Given the description of an element on the screen output the (x, y) to click on. 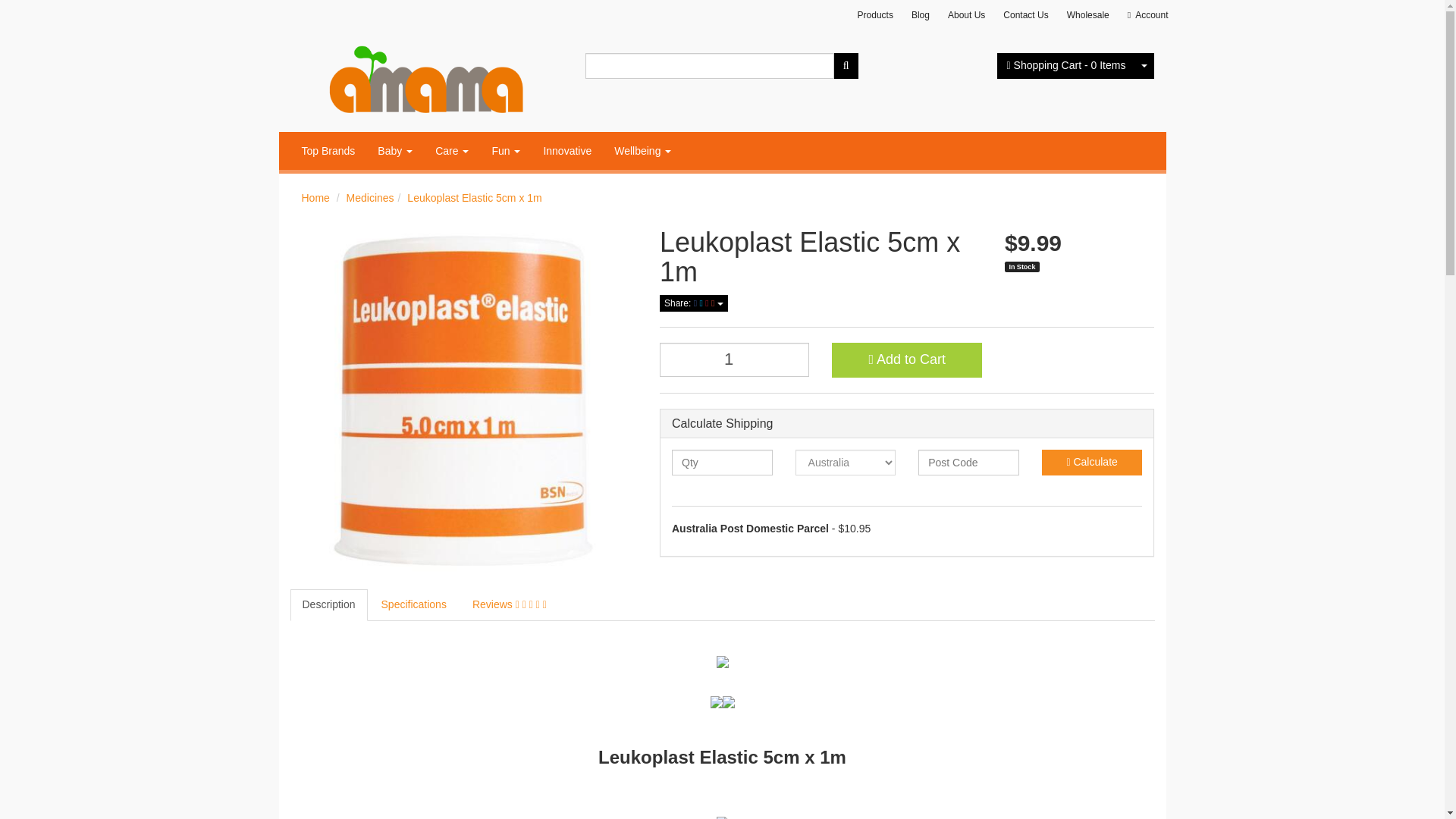
Wholesale (1088, 15)
Add to Cart (906, 360)
Search (845, 65)
Contact Us (1025, 15)
Blog (920, 15)
Calculate (1092, 462)
Fulp Family Trading Pty Ltd (425, 76)
Wellbeing (642, 150)
Top Brands (327, 150)
Innovative (566, 150)
